Given the description of an element on the screen output the (x, y) to click on. 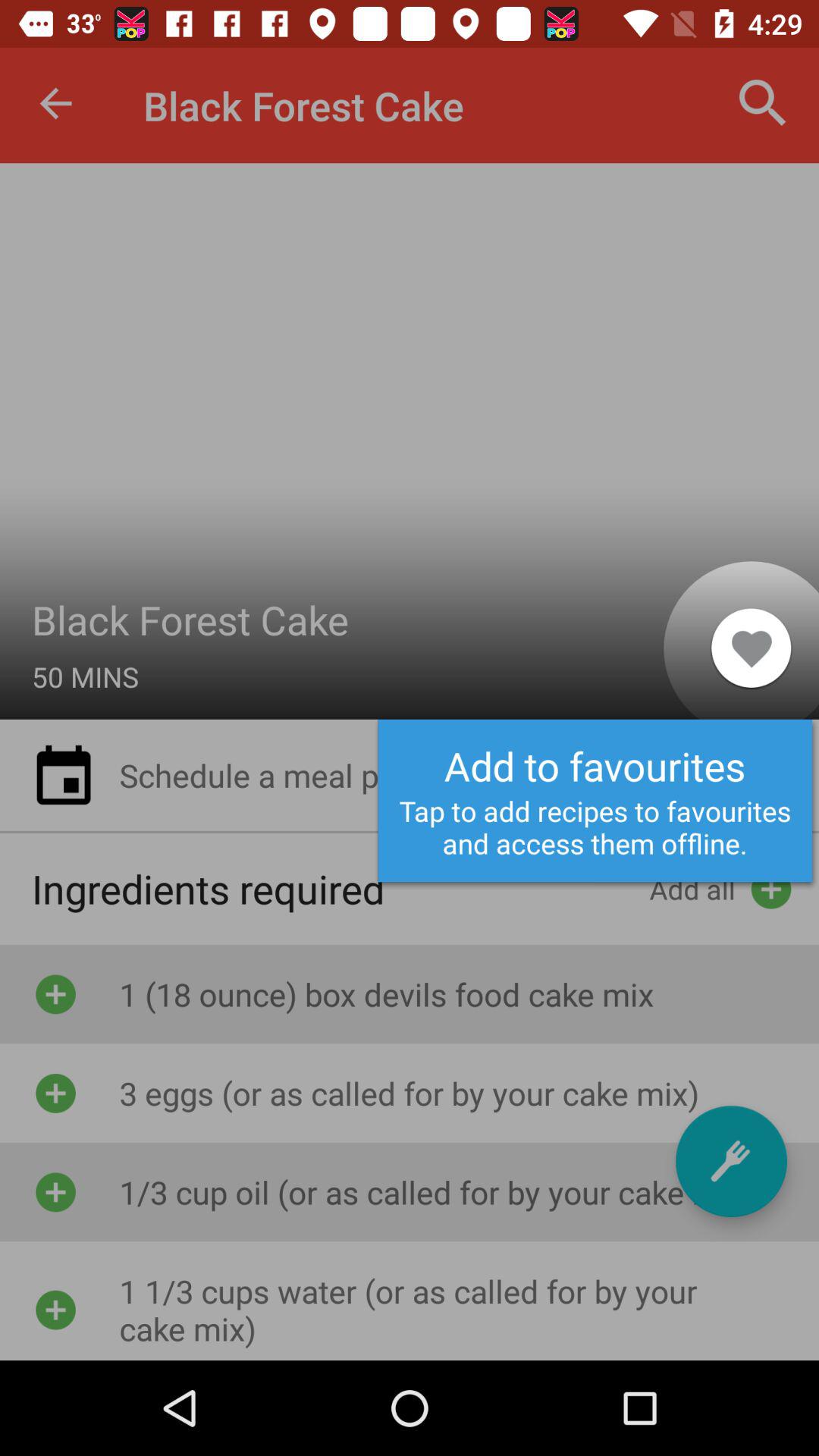
click on the search icon (763, 103)
select fork icon (731, 1161)
click on the third plus icon (55, 1191)
click on the fourth add button below ingredients required (55, 1300)
